Given the description of an element on the screen output the (x, y) to click on. 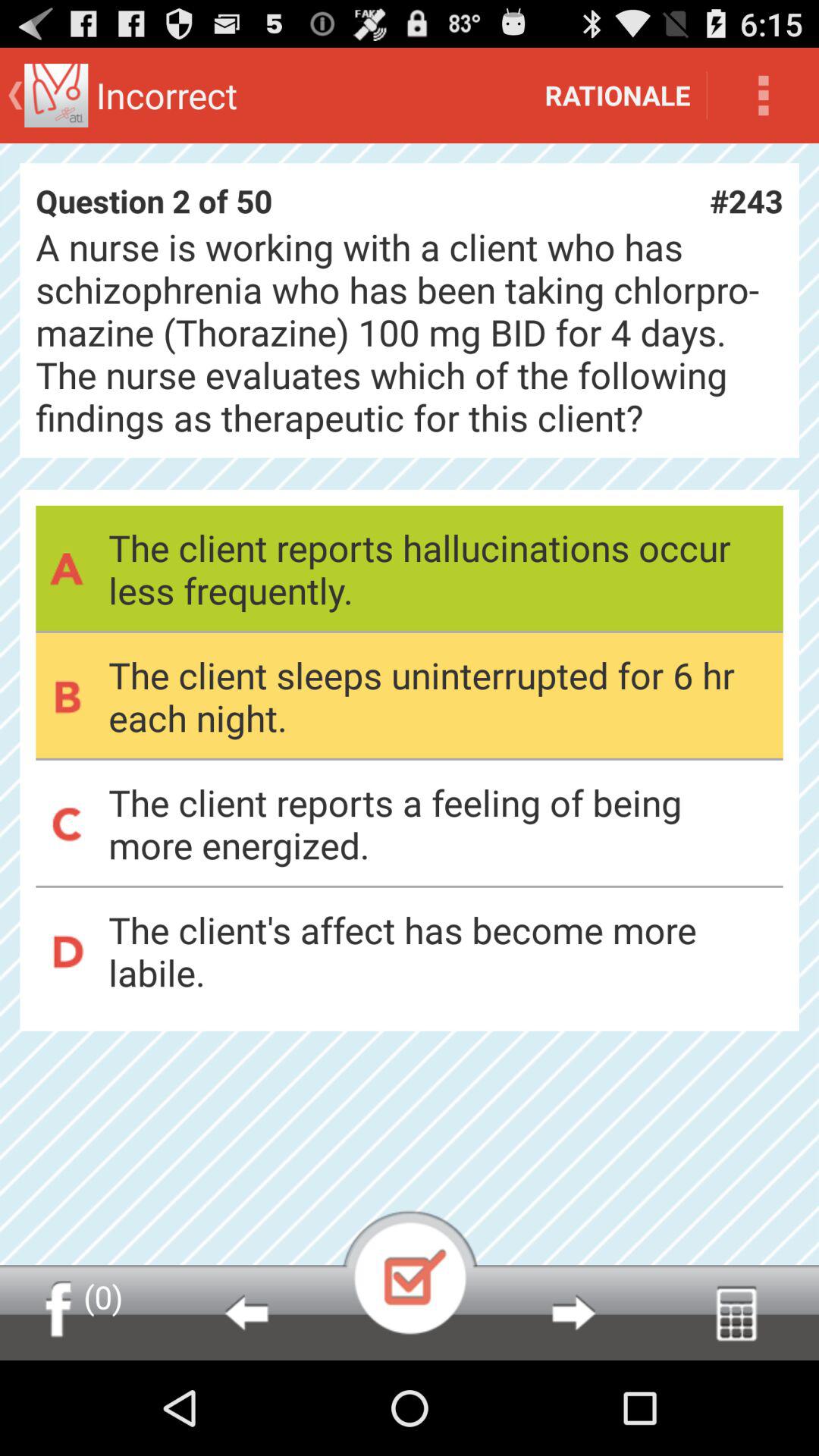
next option (573, 1312)
